Given the description of an element on the screen output the (x, y) to click on. 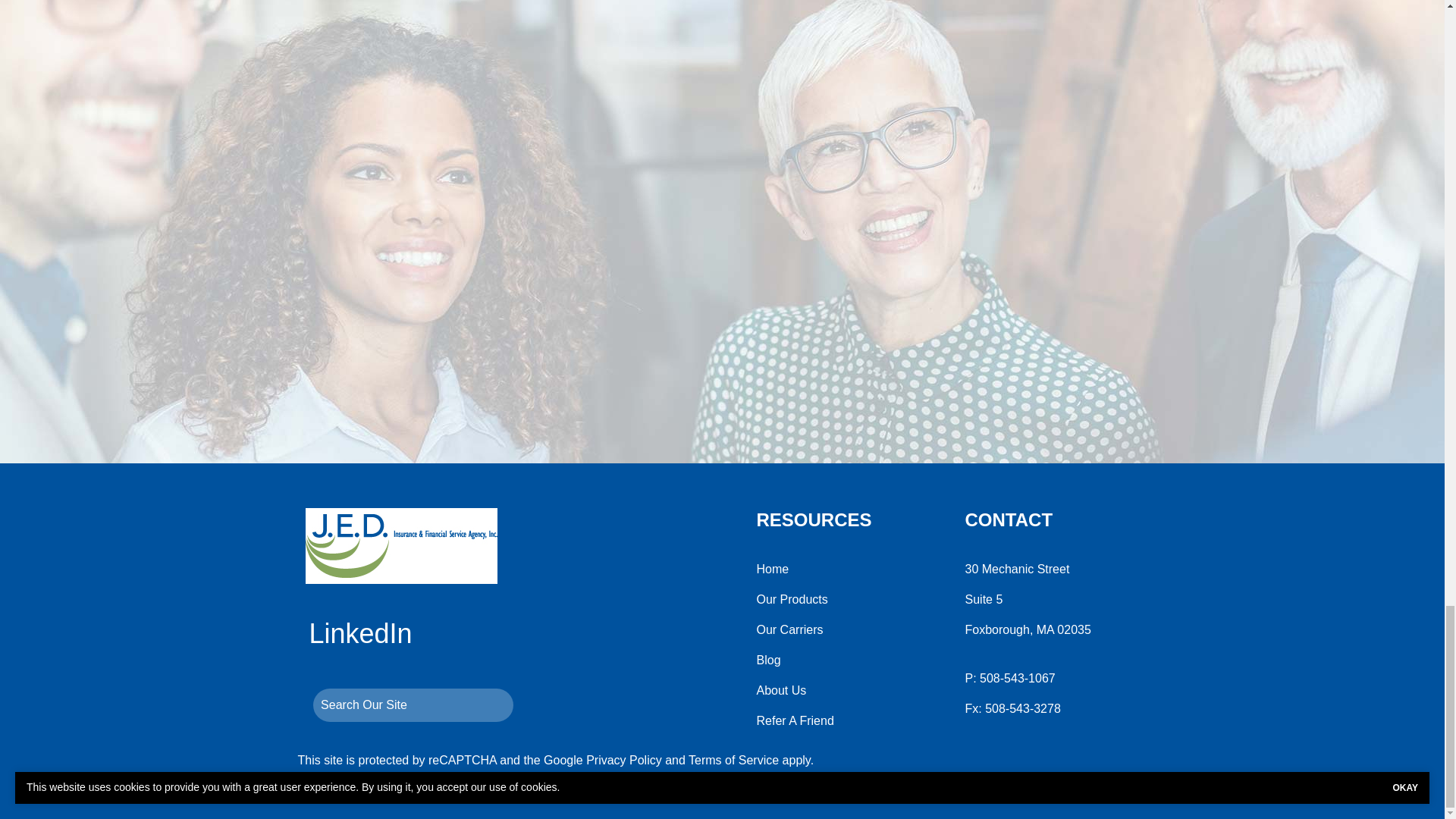
Zywave Websites (616, 789)
